Given the description of an element on the screen output the (x, y) to click on. 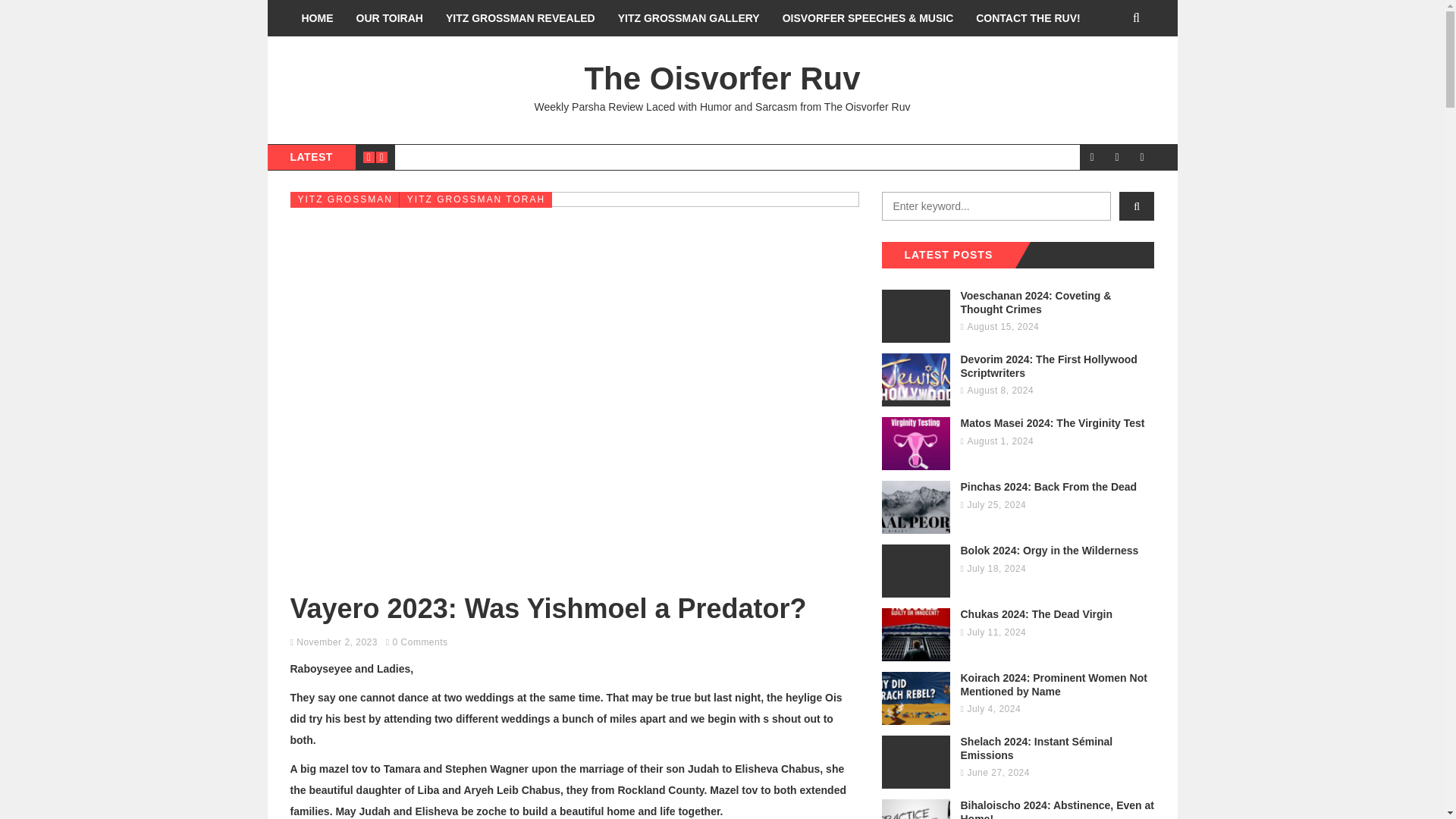
CONTACT THE RUV! (1026, 18)
YITZ GROSSMAN GALLERY (689, 18)
0 Comments (420, 642)
YITZ GROSSMAN REVEALED (520, 18)
OUR TOIRAH (388, 18)
YITZ GROSSMAN TORAH (474, 199)
YITZ GROSSMAN (343, 199)
HOME (316, 18)
The Oisvorfer Ruv (721, 78)
